Given the description of an element on the screen output the (x, y) to click on. 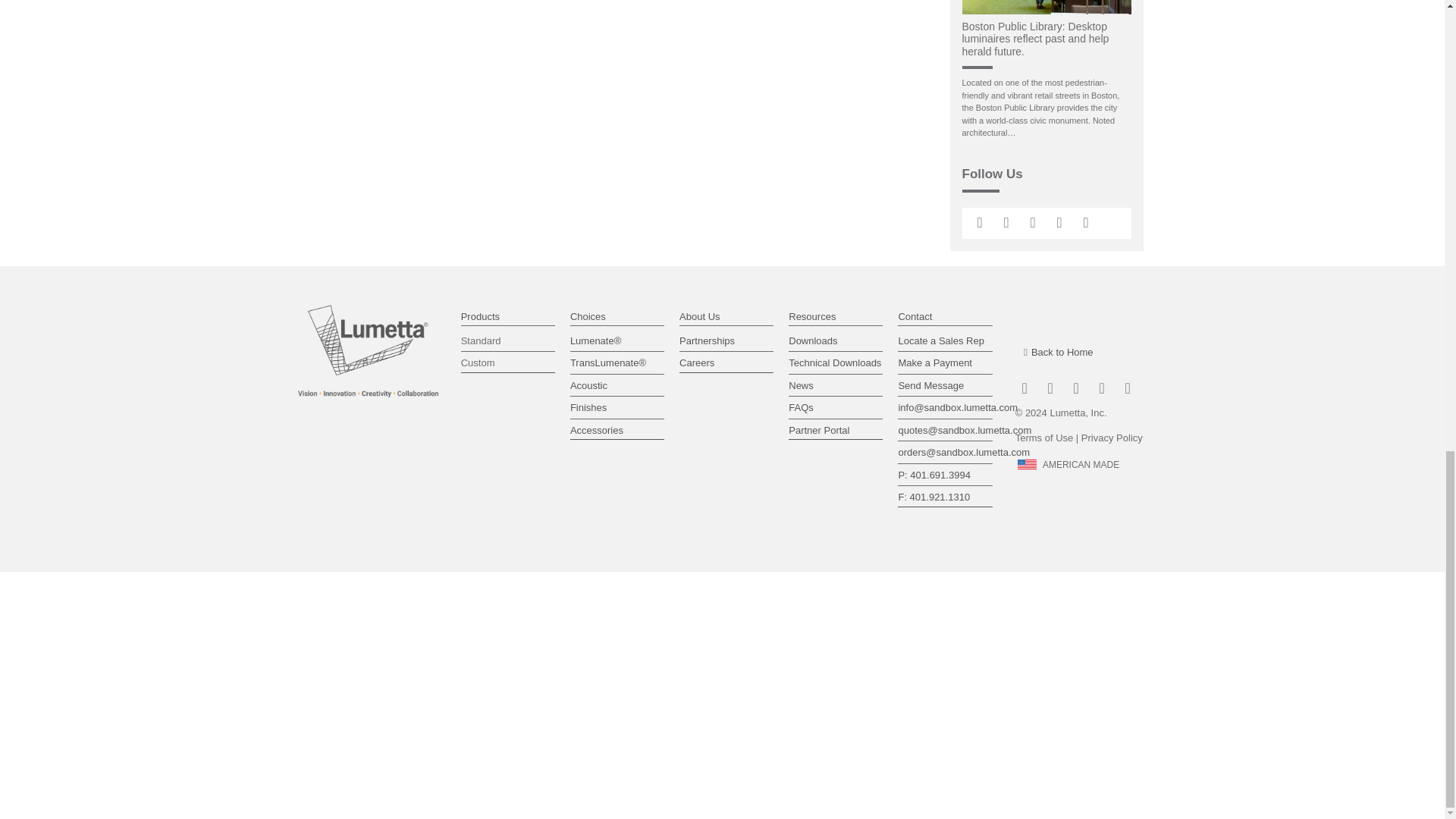
Choices (587, 316)
Twitter (1032, 223)
Pinterest (1059, 223)
Facebook (1085, 223)
Products (480, 316)
LinkedIn (979, 223)
Standard (507, 340)
Custom (507, 363)
Instagram (1005, 223)
